Given the description of an element on the screen output the (x, y) to click on. 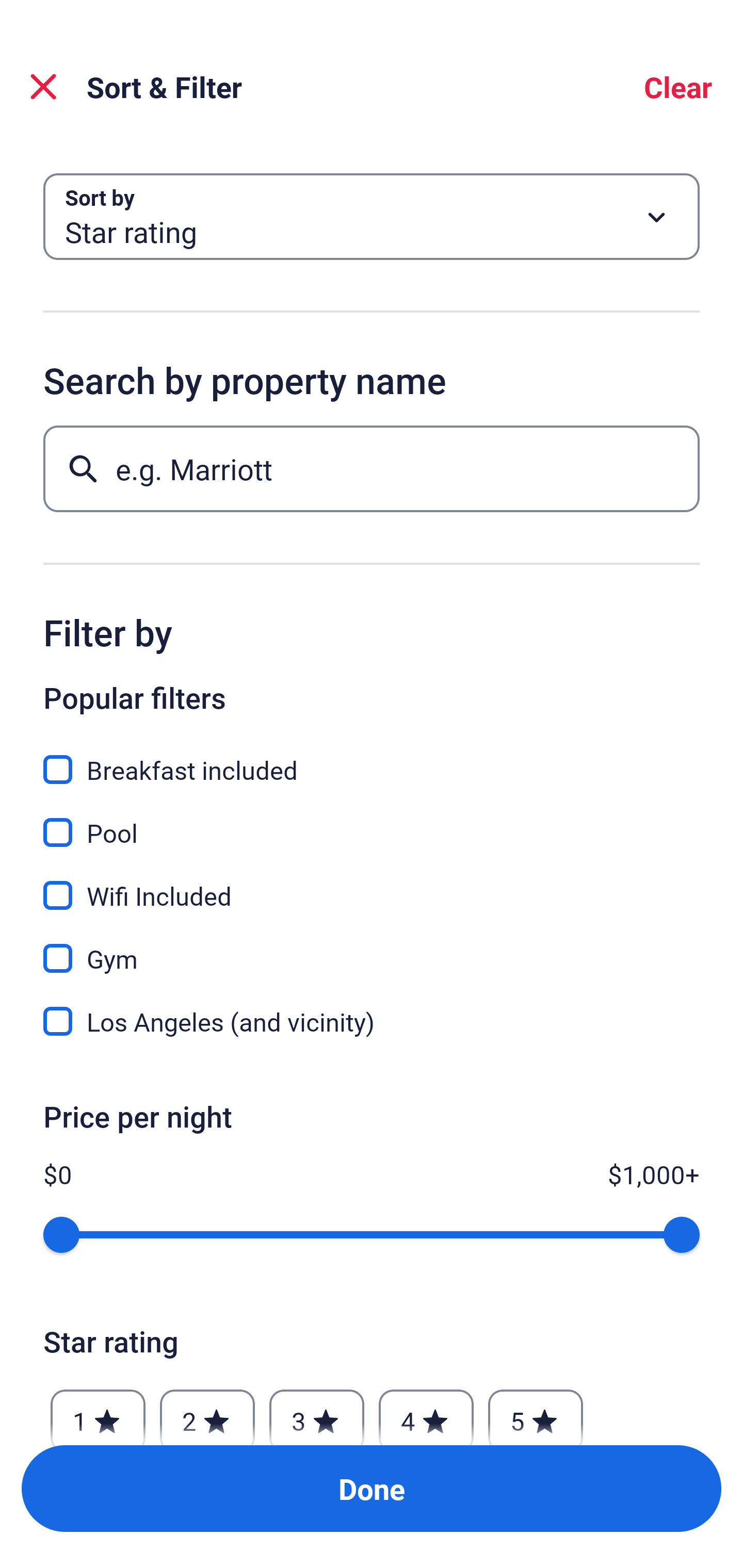
Close Sort and Filter (43, 86)
Clear (677, 86)
Sort by Button Star rating (371, 217)
e.g. Marriott Button (371, 468)
Breakfast included, Breakfast included (371, 757)
Pool, Pool (371, 821)
Wifi Included, Wifi Included (371, 883)
Gym, Gym (371, 946)
1 (97, 1411)
2 (206, 1411)
3 (316, 1411)
4 (426, 1411)
5 (535, 1411)
Apply and close Sort and Filter Done (371, 1488)
